Given the description of an element on the screen output the (x, y) to click on. 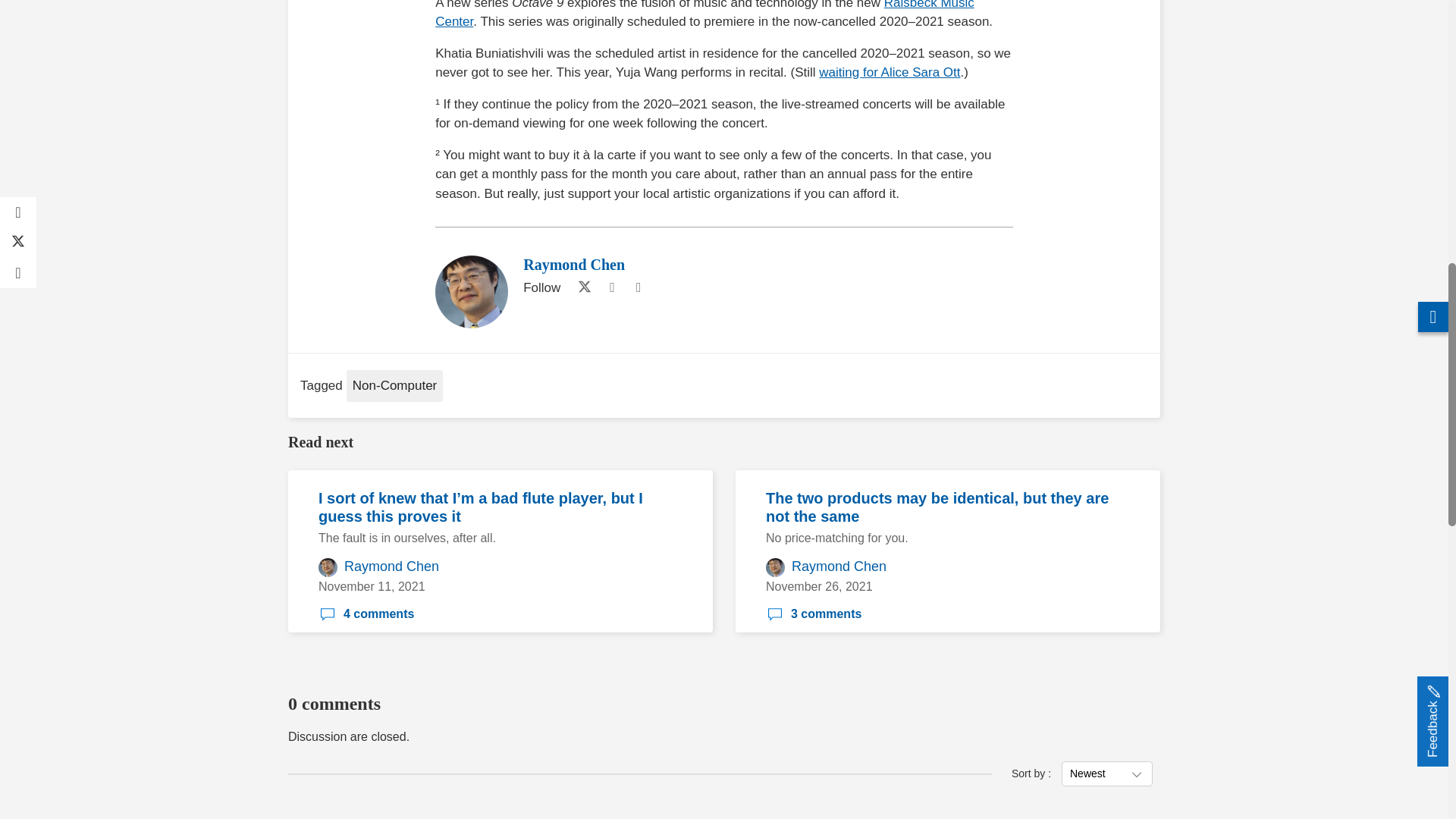
RSS Feed (637, 287)
Twitter (581, 287)
Github (611, 287)
